Given the description of an element on the screen output the (x, y) to click on. 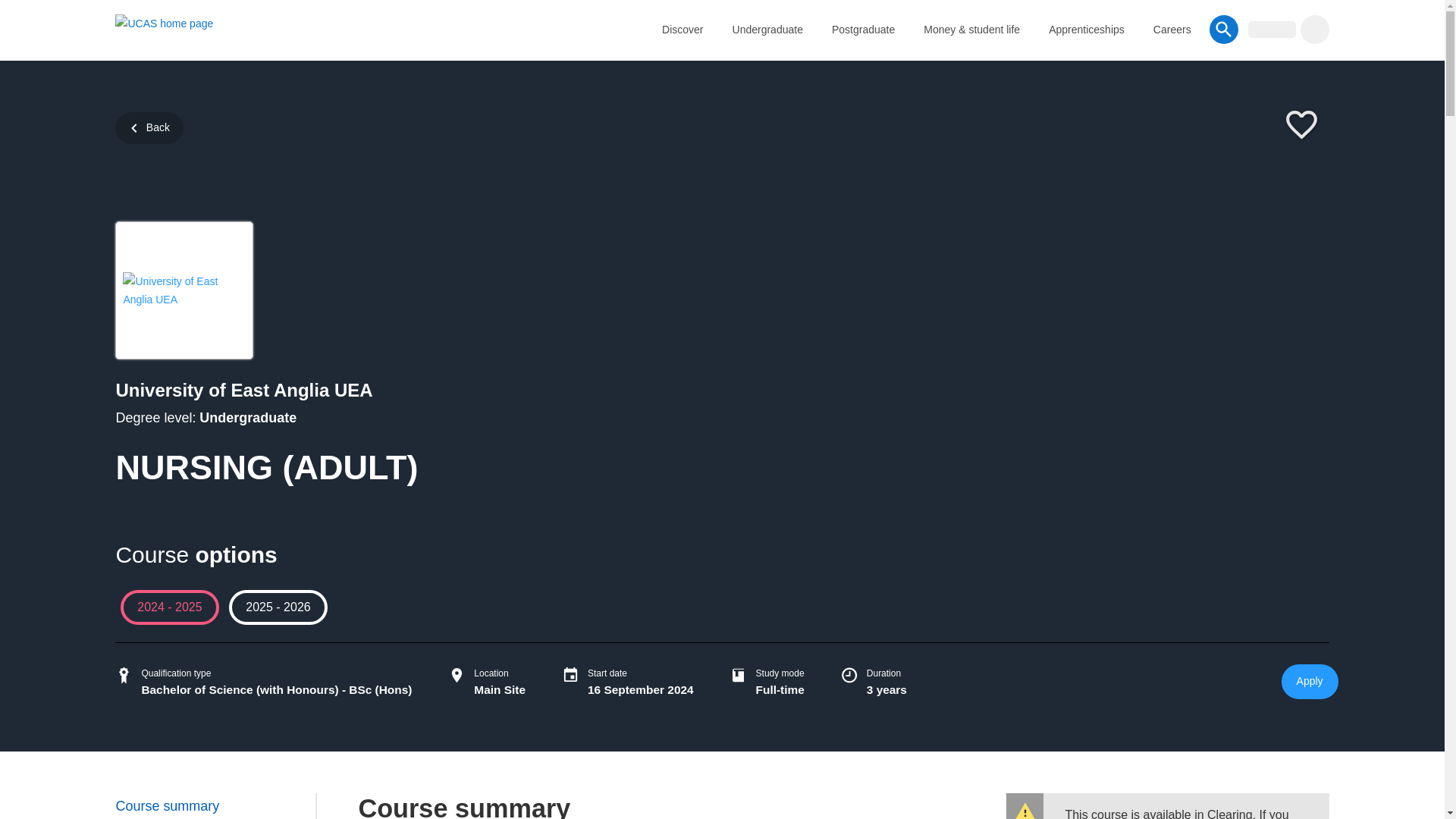
Undergraduate (767, 29)
Discover (682, 29)
Back to previous page (149, 128)
Add option to favourites (1301, 125)
